Given the description of an element on the screen output the (x, y) to click on. 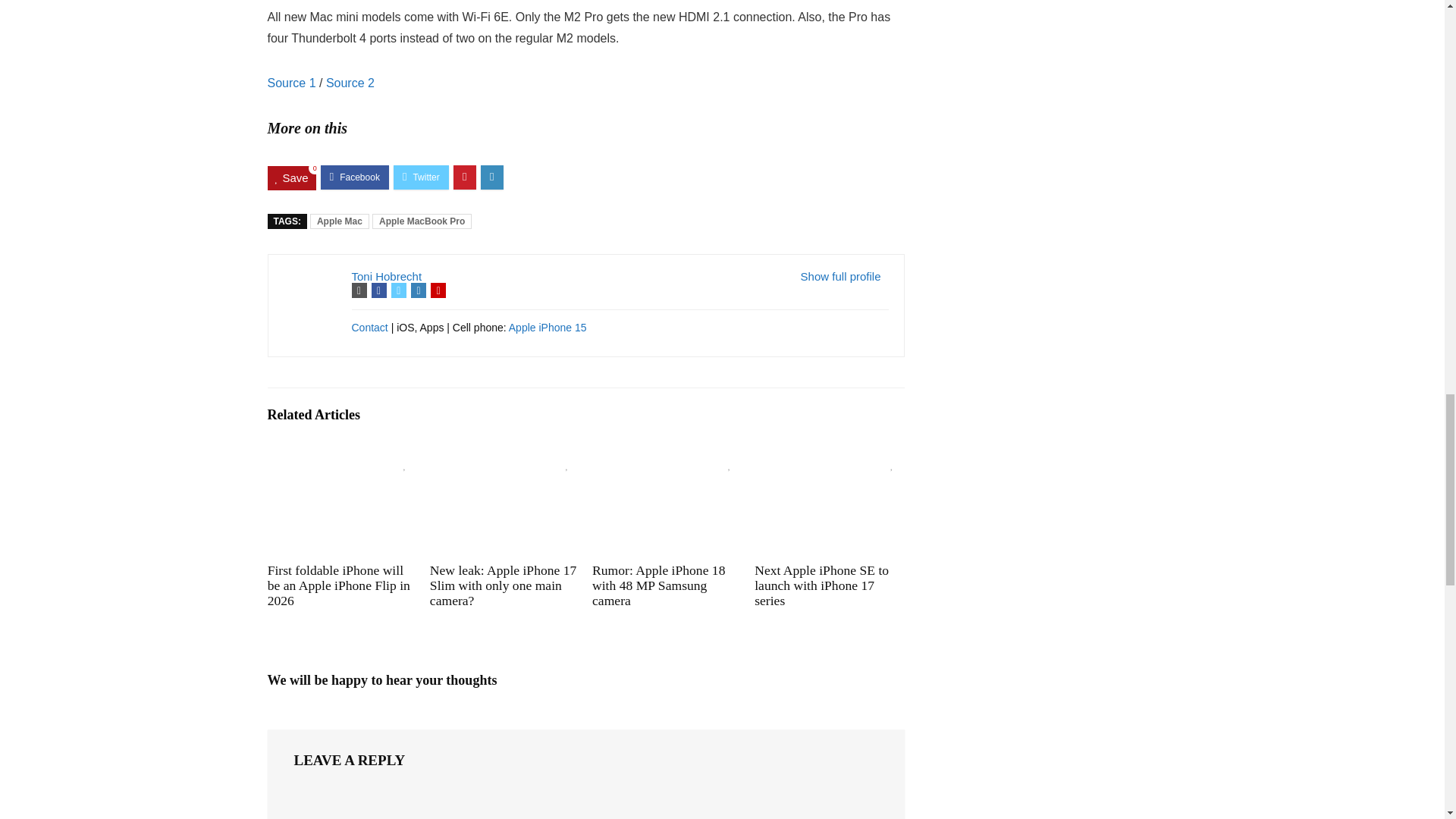
Comment Form (585, 803)
